Given the description of an element on the screen output the (x, y) to click on. 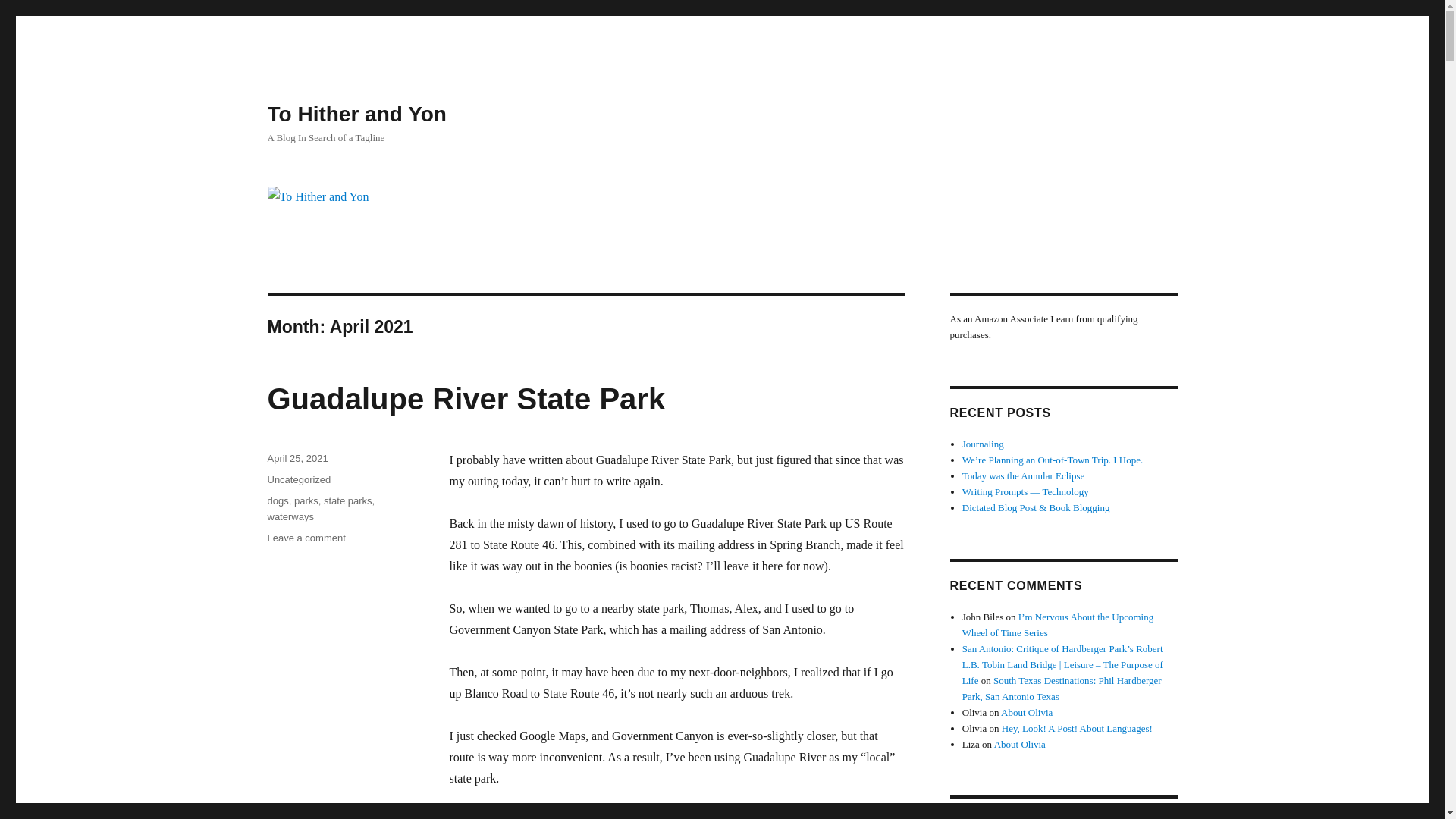
Uncategorized (305, 537)
dogs (298, 479)
Guadalupe River State Park (277, 500)
state parks (465, 398)
April 25, 2021 (347, 500)
waterways (296, 458)
To Hither and Yon (289, 516)
parks (355, 114)
